Given the description of an element on the screen output the (x, y) to click on. 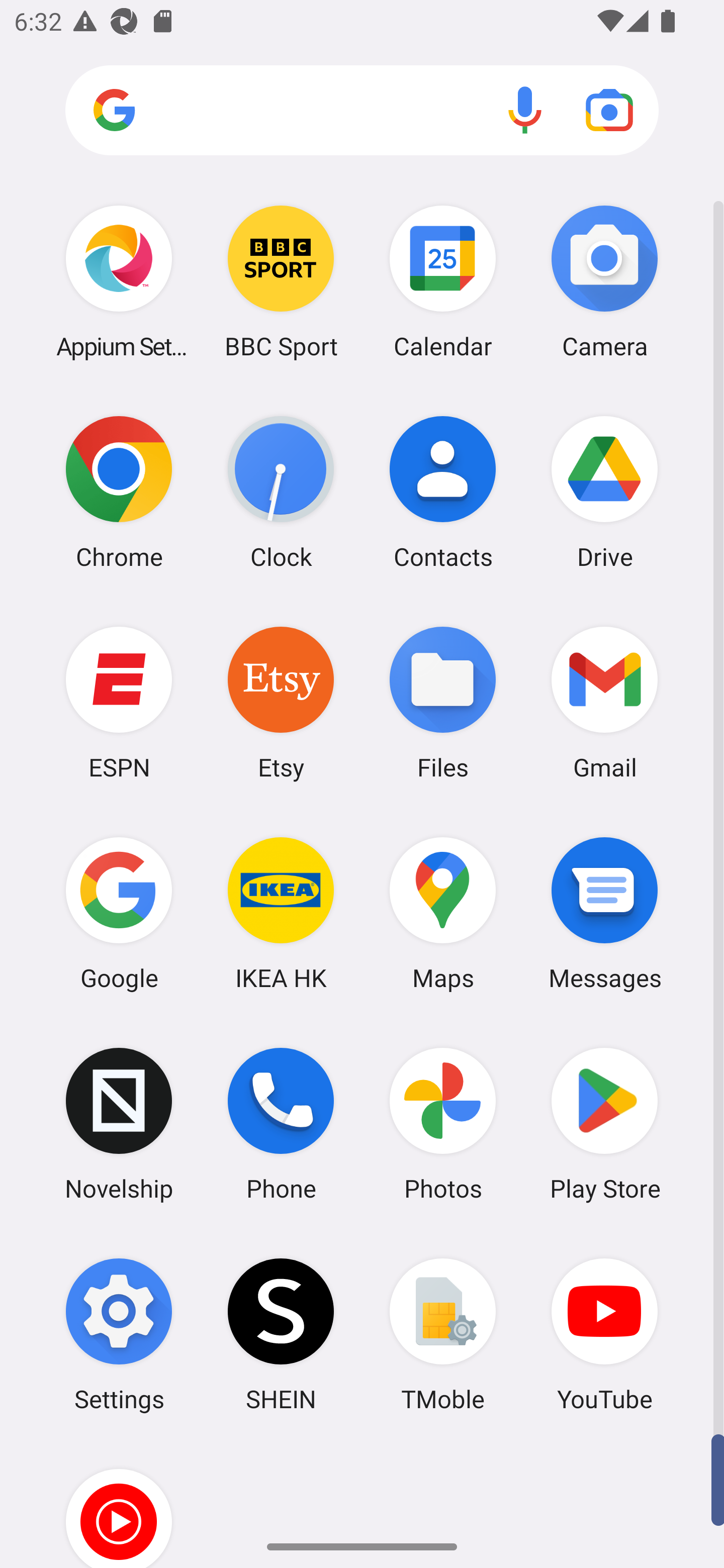
Search apps, web and more (361, 110)
Voice search (524, 109)
Google Lens (608, 109)
Appium Settings (118, 281)
BBC Sport (280, 281)
Calendar (443, 281)
Camera (604, 281)
Chrome (118, 492)
Clock (280, 492)
Contacts (443, 492)
Drive (604, 492)
ESPN (118, 702)
Etsy (280, 702)
Files (443, 702)
Gmail (604, 702)
Google (118, 913)
IKEA HK (280, 913)
Maps (443, 913)
Messages (604, 913)
Novelship (118, 1124)
Phone (280, 1124)
Photos (443, 1124)
Play Store (604, 1124)
Settings (118, 1334)
SHEIN (280, 1334)
TMoble (443, 1334)
YouTube (604, 1334)
YT Music (118, 1503)
